Given the description of an element on the screen output the (x, y) to click on. 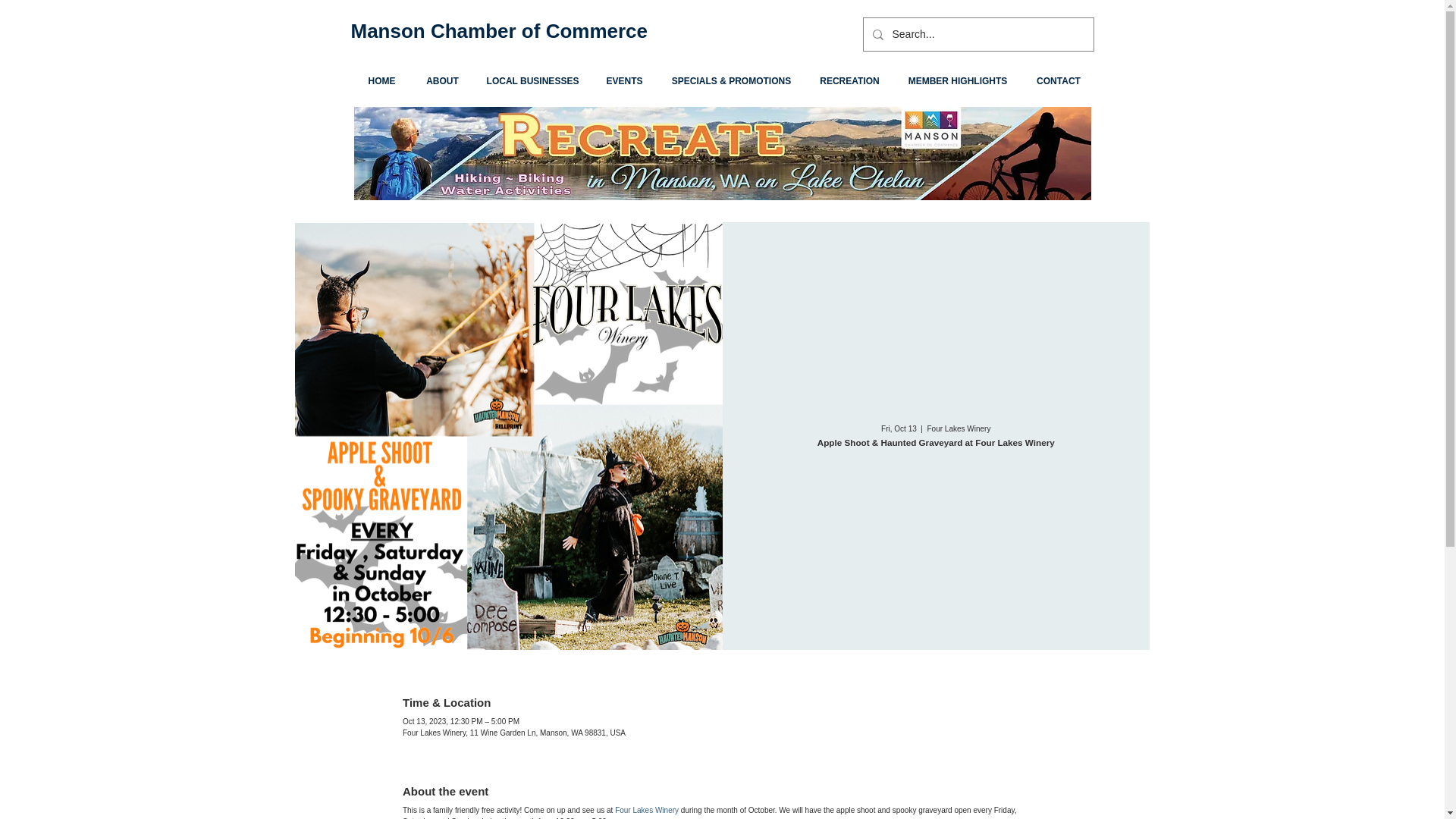
Manson Chamber of Commerce (498, 30)
Four Lakes Winery (646, 809)
MEMBER HIGHLIGHTS (957, 81)
CONTACT (1059, 81)
HOME (381, 81)
EVENTS (623, 81)
